Given the description of an element on the screen output the (x, y) to click on. 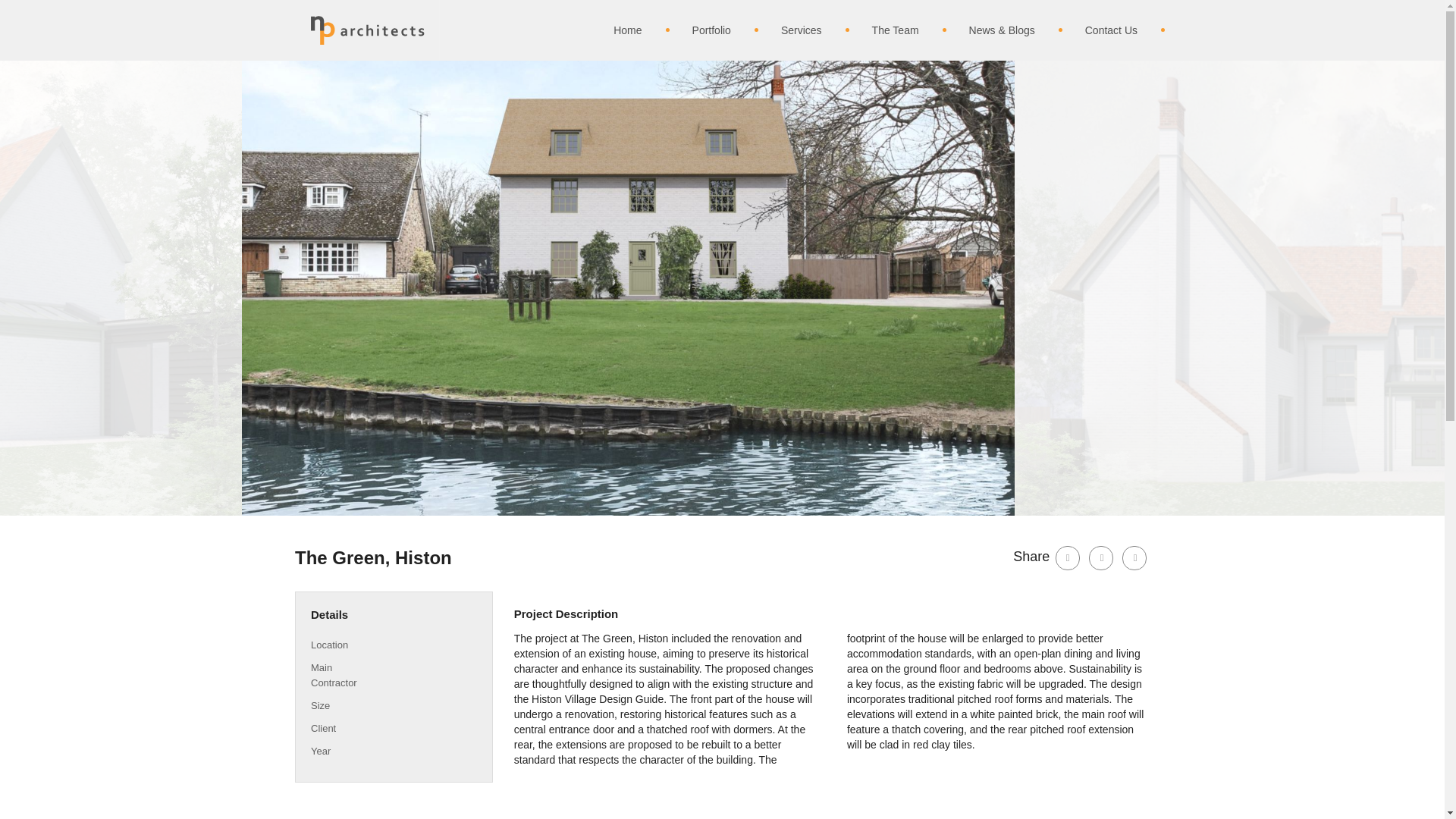
Home (614, 30)
The Team (882, 30)
NPA (368, 30)
Services (788, 30)
Contact Us (1098, 30)
Portfolio (697, 30)
